Given the description of an element on the screen output the (x, y) to click on. 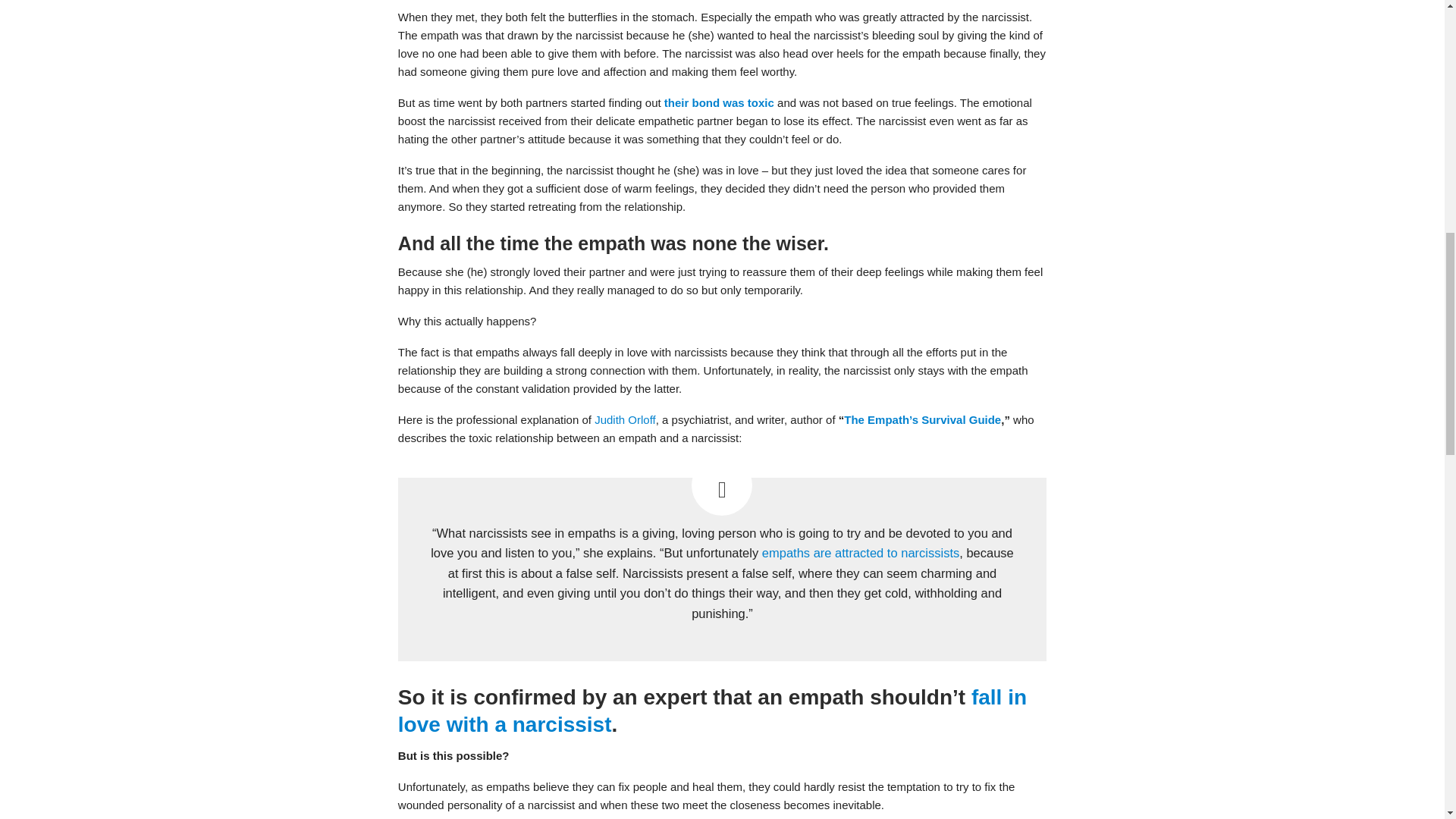
Judith Orloff (625, 419)
empaths are attracted to narcissists (860, 552)
fall in love with a narcissist (711, 710)
their bond was toxic (718, 102)
